Given the description of an element on the screen output the (x, y) to click on. 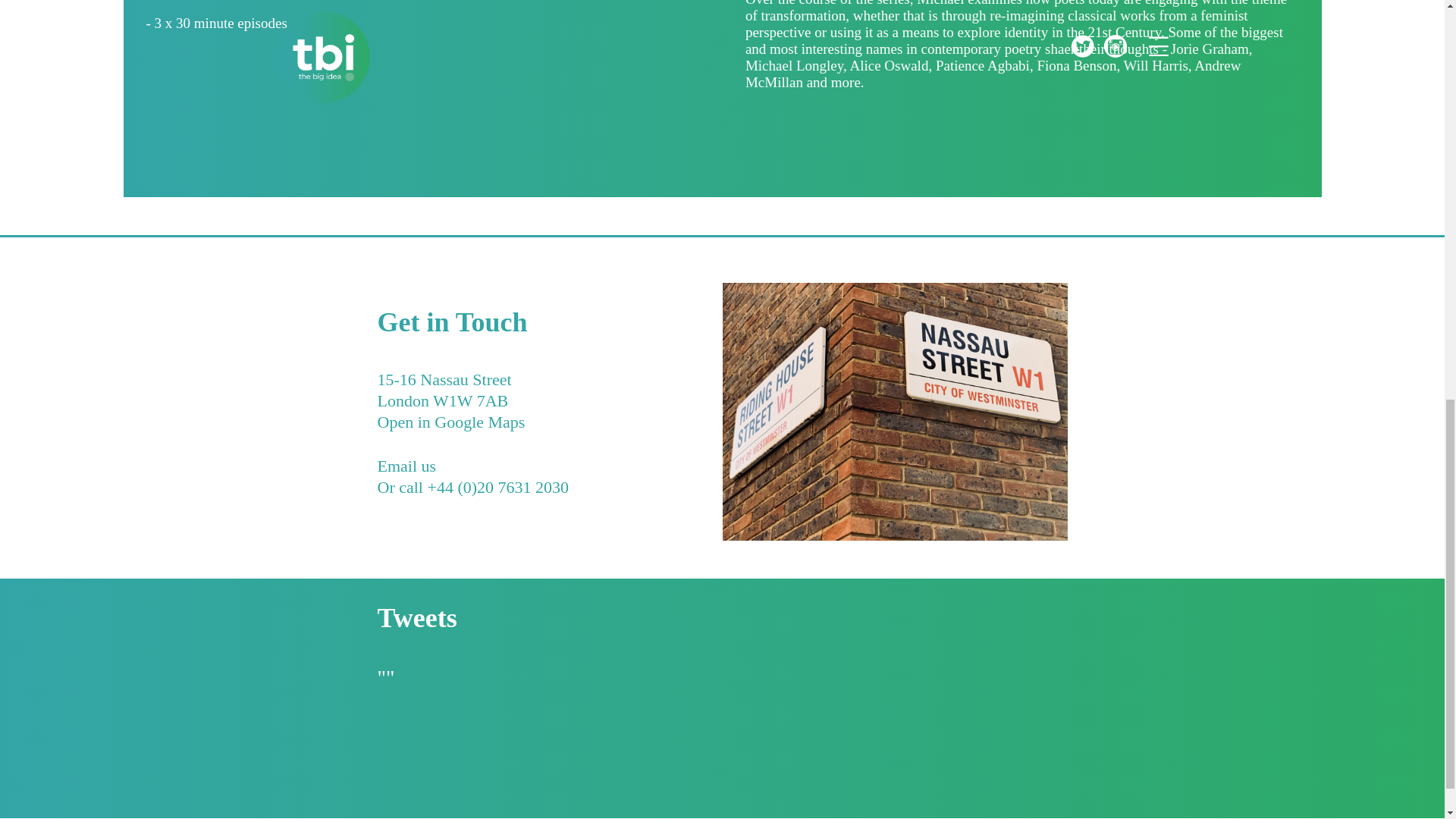
Email us (406, 476)
Open in Google Maps (451, 433)
